Given the description of an element on the screen output the (x, y) to click on. 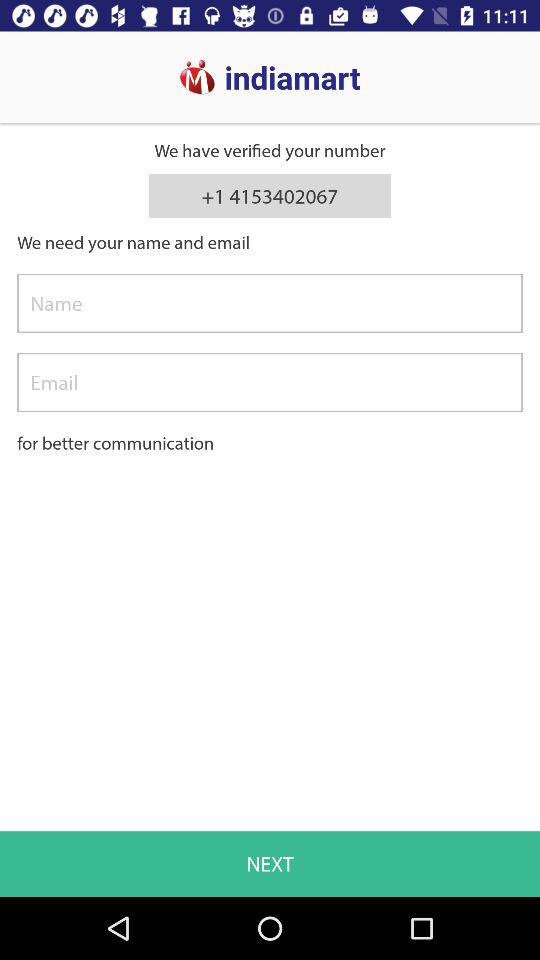
enter email address (269, 382)
